Given the description of an element on the screen output the (x, y) to click on. 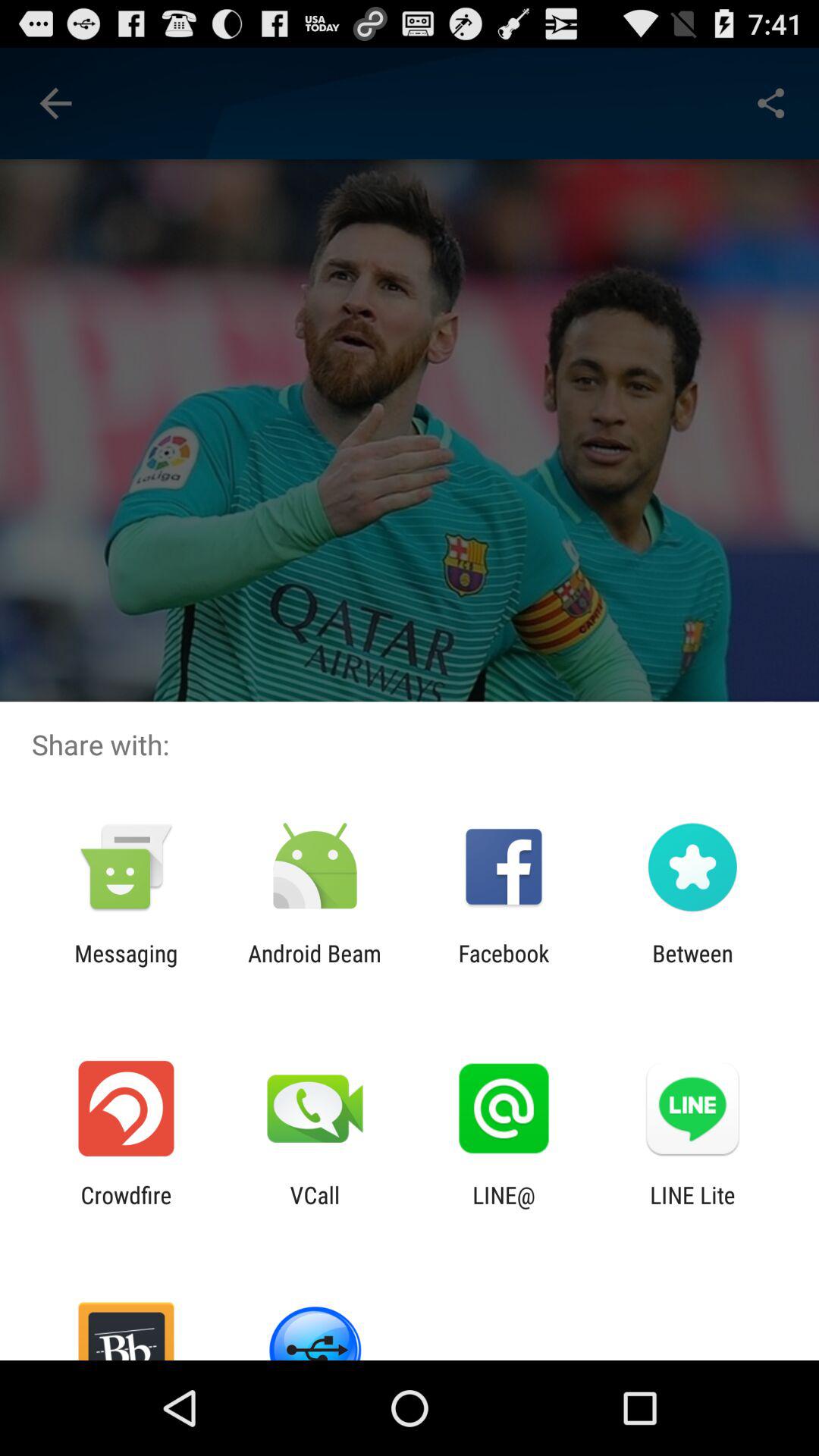
turn on the facebook item (503, 966)
